Given the description of an element on the screen output the (x, y) to click on. 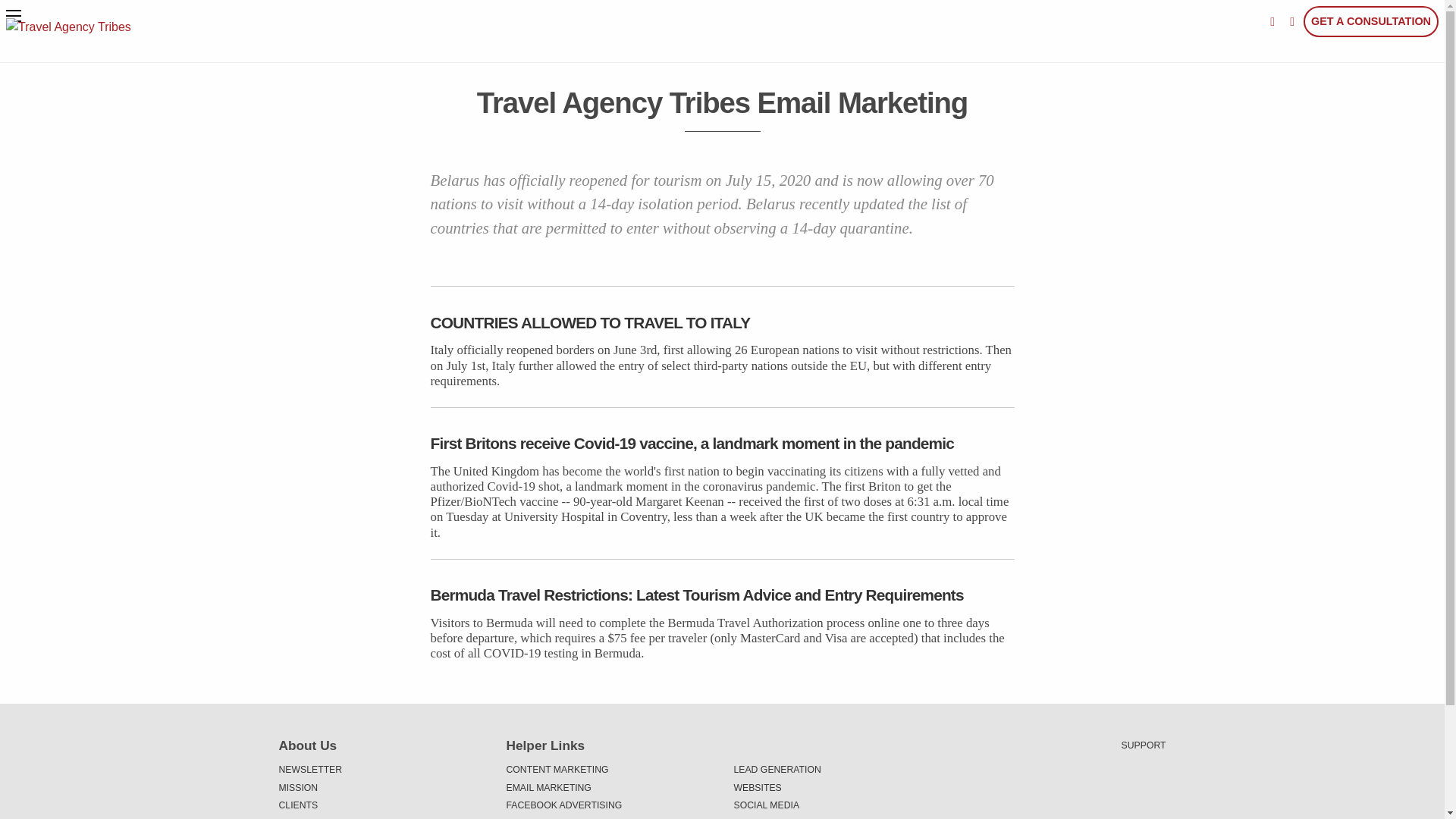
EMAIL MARKETING (608, 787)
SUPPORT (1143, 744)
SOCIAL MEDIA (836, 805)
MISSION (381, 787)
WEBSITES (836, 787)
LEAD GENERATION (836, 769)
NEWSLETTER (381, 769)
FACEBOOK ADVERTISING (608, 805)
COUNTRIES ALLOWED TO TRAVEL TO ITALY (722, 322)
